Given the description of an element on the screen output the (x, y) to click on. 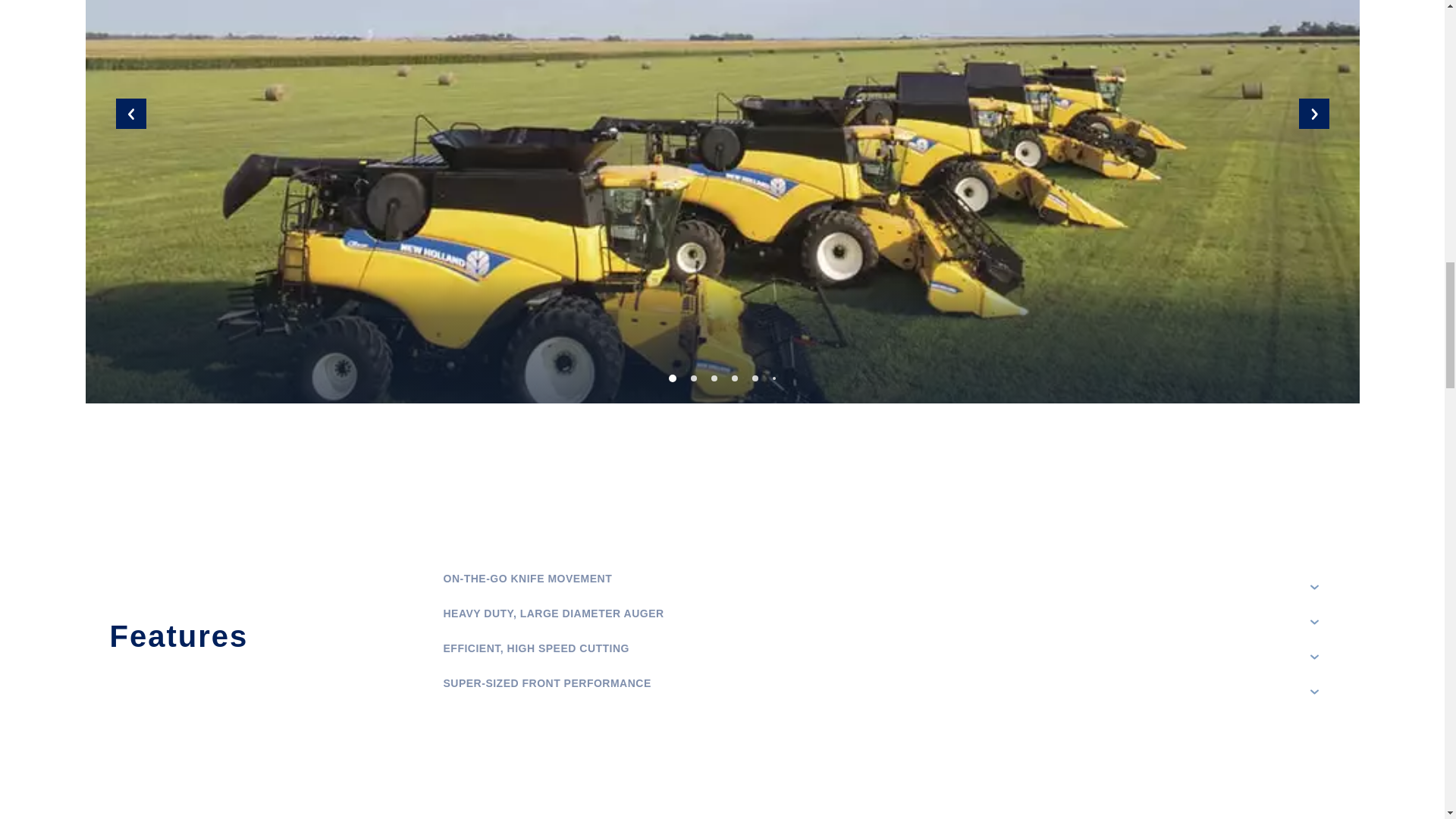
ON-THE-GO KNIFE MOVEMENT (882, 586)
HEAVY DUTY, LARGE DIAMETER AUGER (882, 621)
EFFICIENT, HIGH SPEED CUTTING (882, 656)
SUPER-SIZED FRONT PERFORMANCE (882, 691)
